Given the description of an element on the screen output the (x, y) to click on. 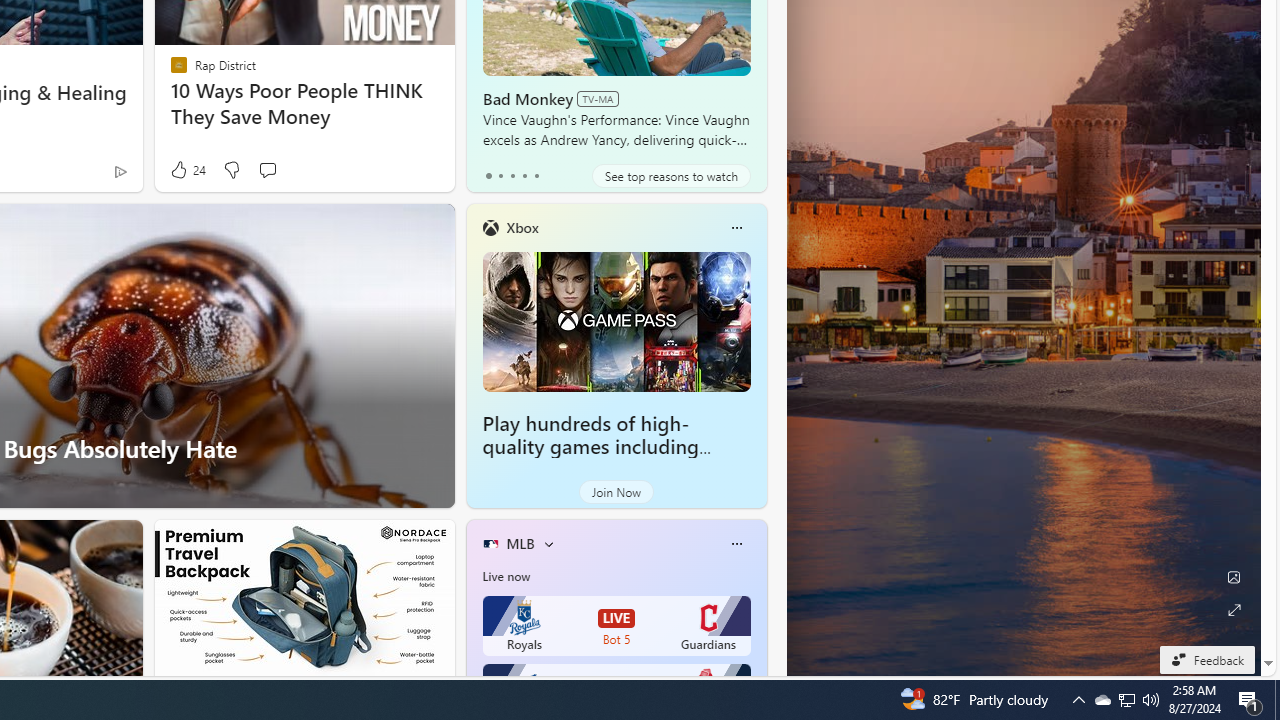
tab-4 (535, 175)
MLB (520, 543)
tab-3 (524, 175)
Join Now (616, 491)
